Given the description of an element on the screen output the (x, y) to click on. 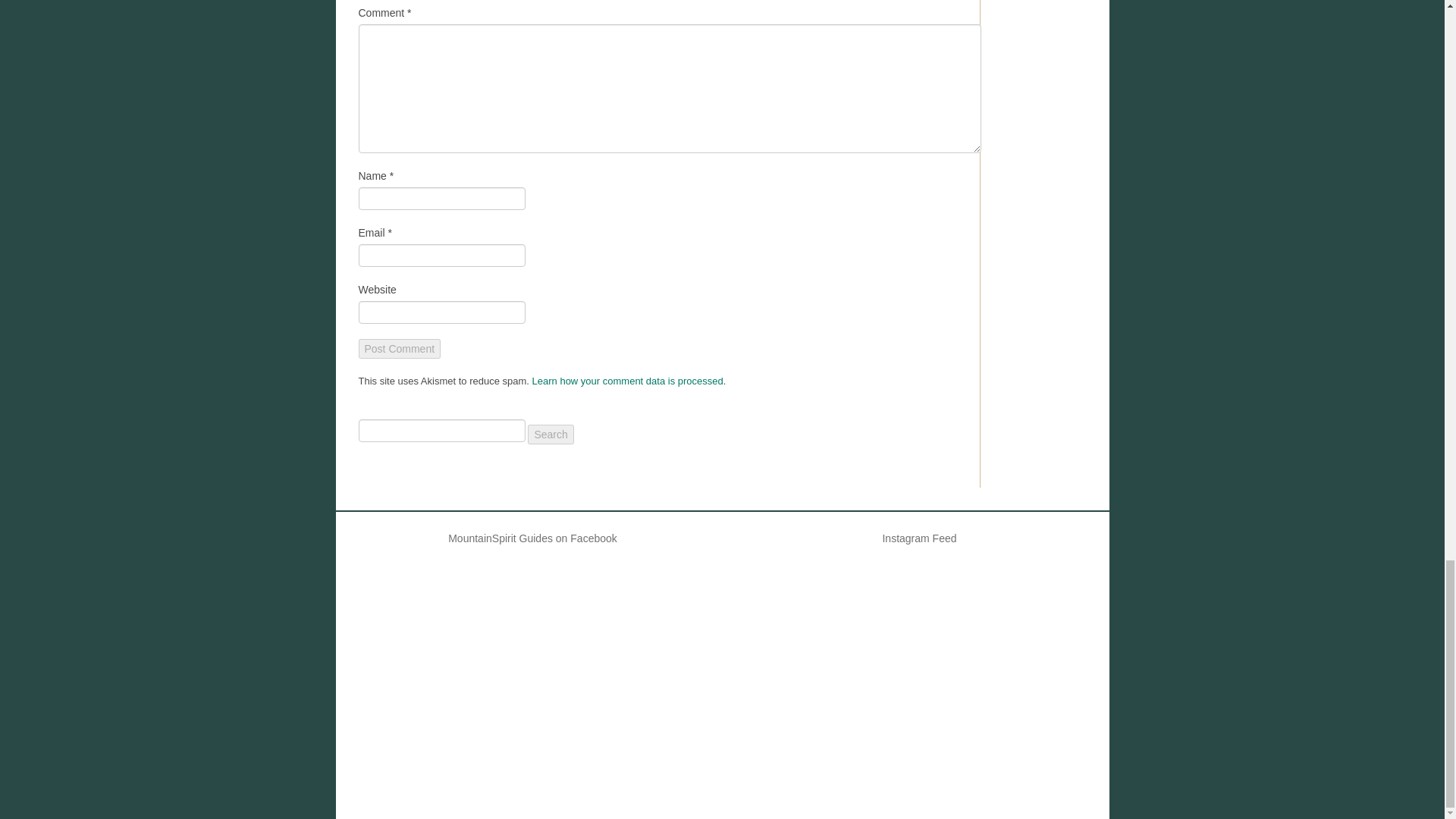
Search (550, 434)
Post Comment (399, 348)
Post Comment (399, 348)
Search (550, 434)
Learn how your comment data is processed (627, 380)
